Given the description of an element on the screen output the (x, y) to click on. 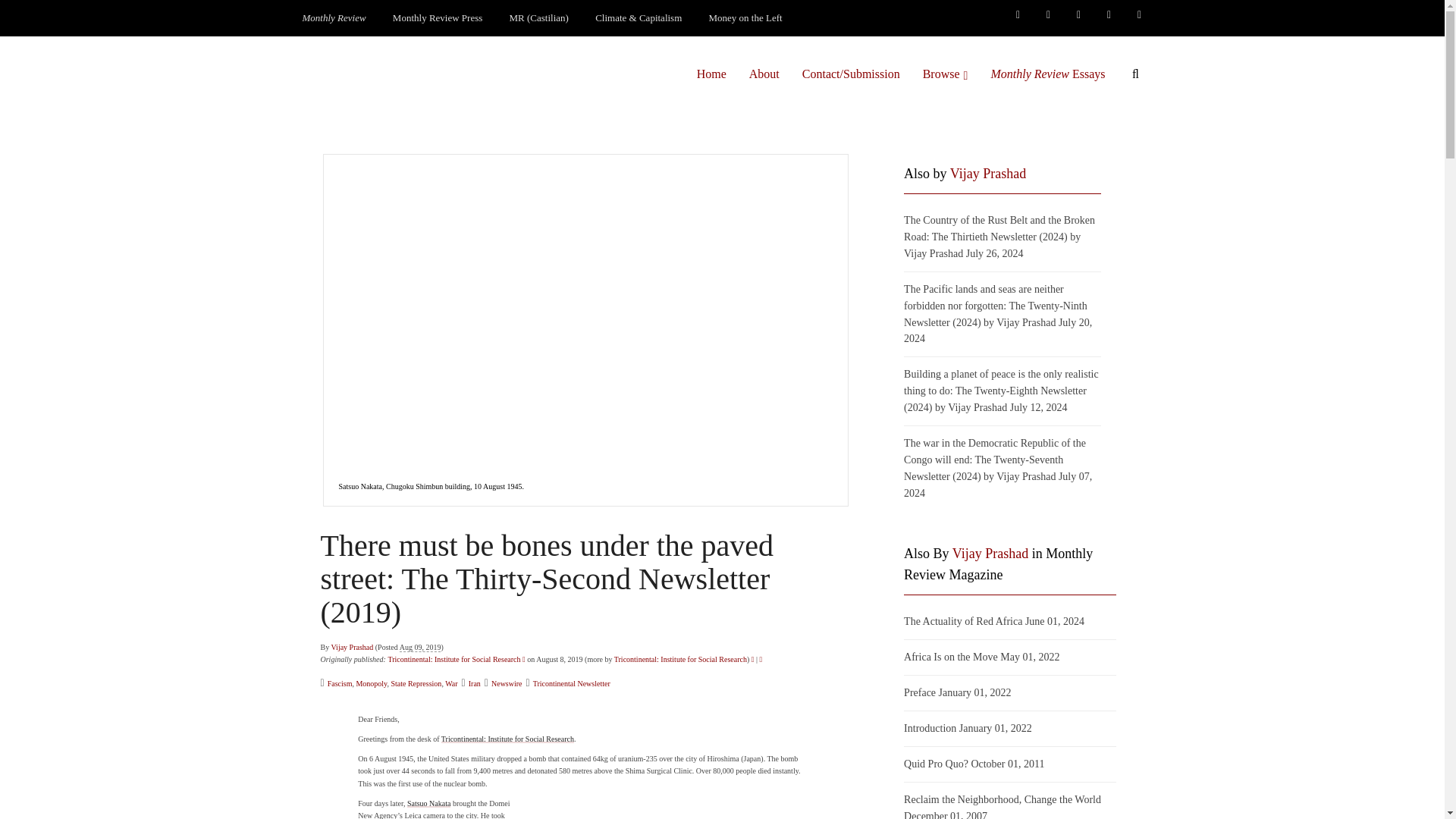
Money on the Left (745, 18)
Monthly Review Magazine (333, 18)
Monthly Review (333, 18)
Browse (945, 74)
Monthly Review Press (437, 18)
